Given the description of an element on the screen output the (x, y) to click on. 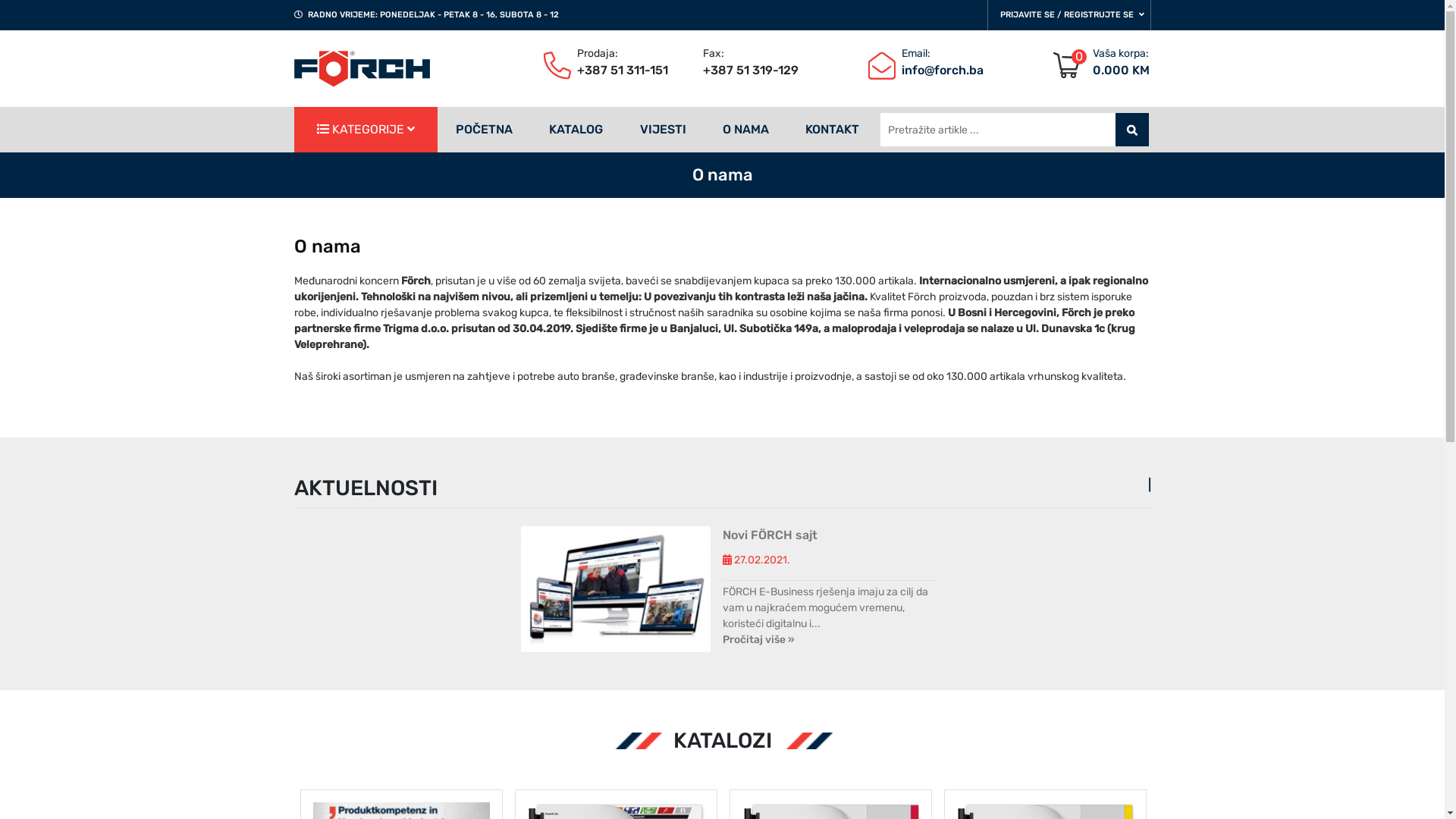
KATEGORIJE Element type: text (365, 129)
VIJESTI Element type: text (662, 129)
O NAMA Element type: text (745, 129)
KATALOG Element type: text (575, 129)
PRIJAVITE SE / REGISTRUJTE SE Element type: text (1069, 15)
KONTAKT Element type: text (832, 129)
Email:
info@forch.ba Element type: text (890, 62)
